Given the description of an element on the screen output the (x, y) to click on. 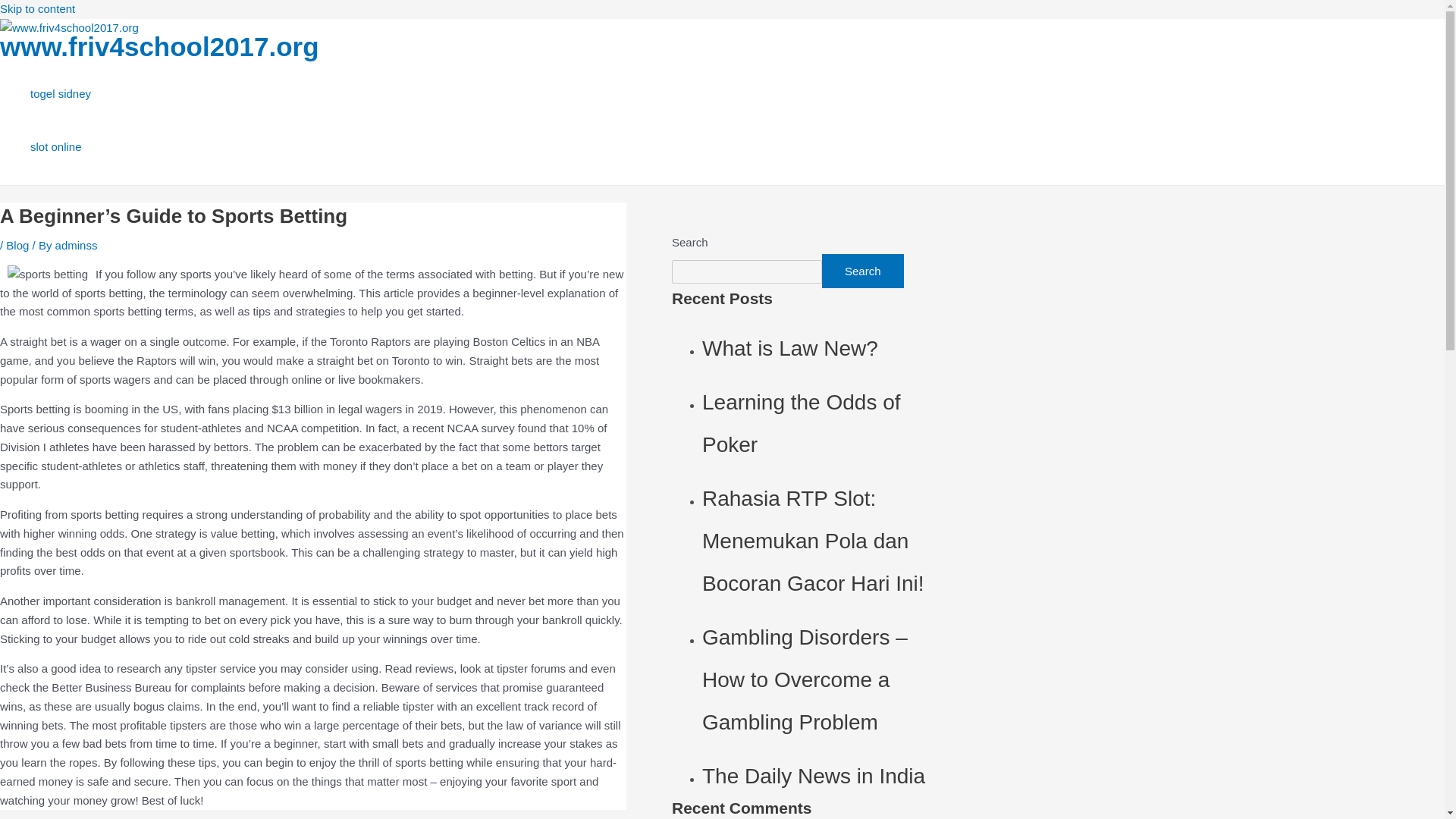
What is Law New? (789, 348)
Search (863, 270)
www.friv4school2017.org (159, 46)
Skip to content (37, 8)
slot online (60, 146)
togel sidney (60, 93)
Learning the Odds of Poker (801, 423)
adminss (76, 245)
View all posts by adminss (76, 245)
Blog (17, 245)
